Given the description of an element on the screen output the (x, y) to click on. 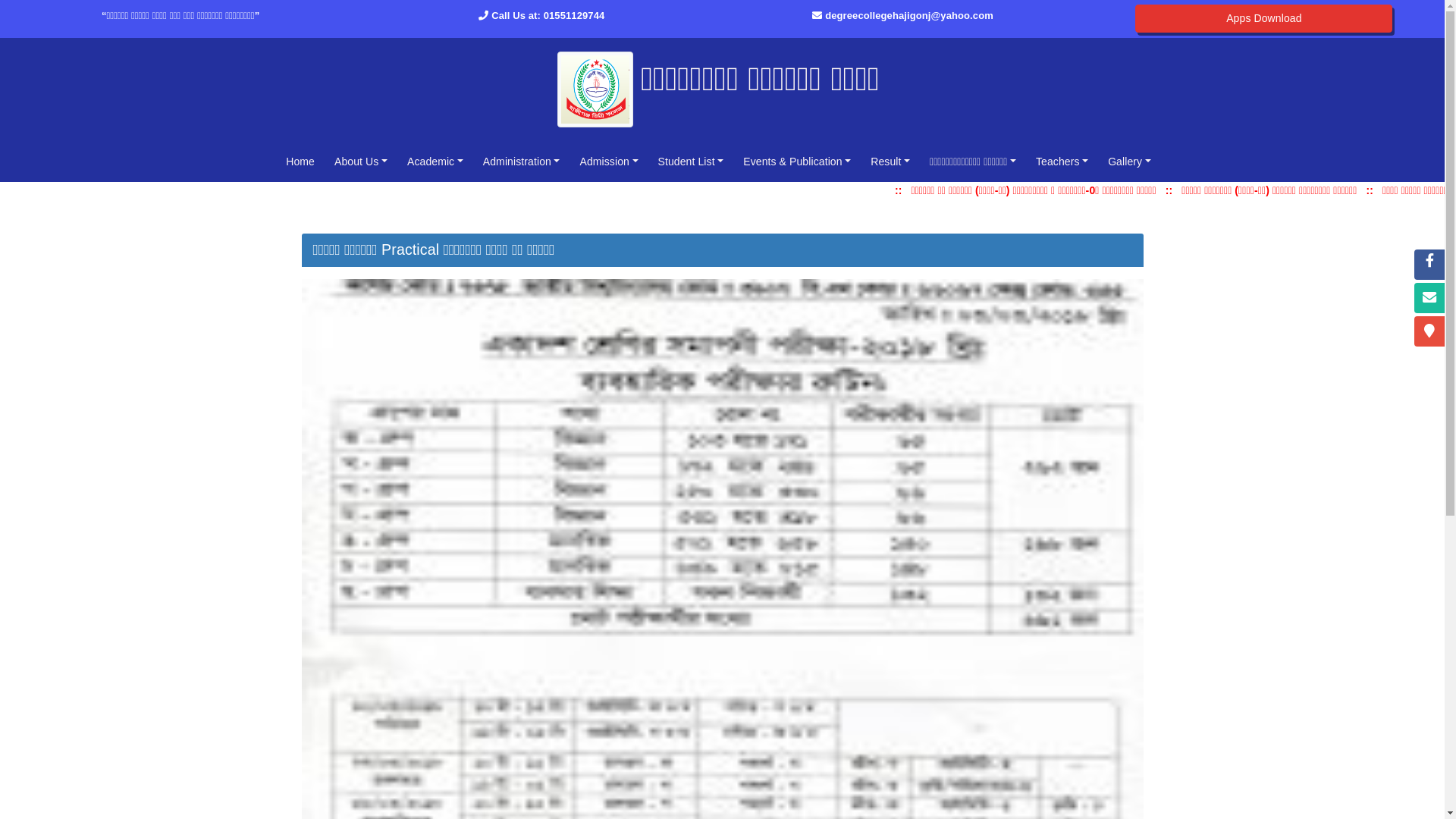
degreecollegehajigonj@yahoo.com Element type: text (909, 15)
Home
(current) Element type: text (299, 161)
Teachers Element type: text (1061, 161)
Admission Element type: text (608, 161)
Administration Element type: text (521, 161)
01551129744 Element type: text (574, 15)
Student List Element type: text (691, 161)
About Us Element type: text (360, 161)
Academic Element type: text (435, 161)
Result Element type: text (890, 161)
Events & Publication Element type: text (796, 161)
Apps Download Element type: text (1263, 18)
Gallery Element type: text (1129, 161)
